Given the description of an element on the screen output the (x, y) to click on. 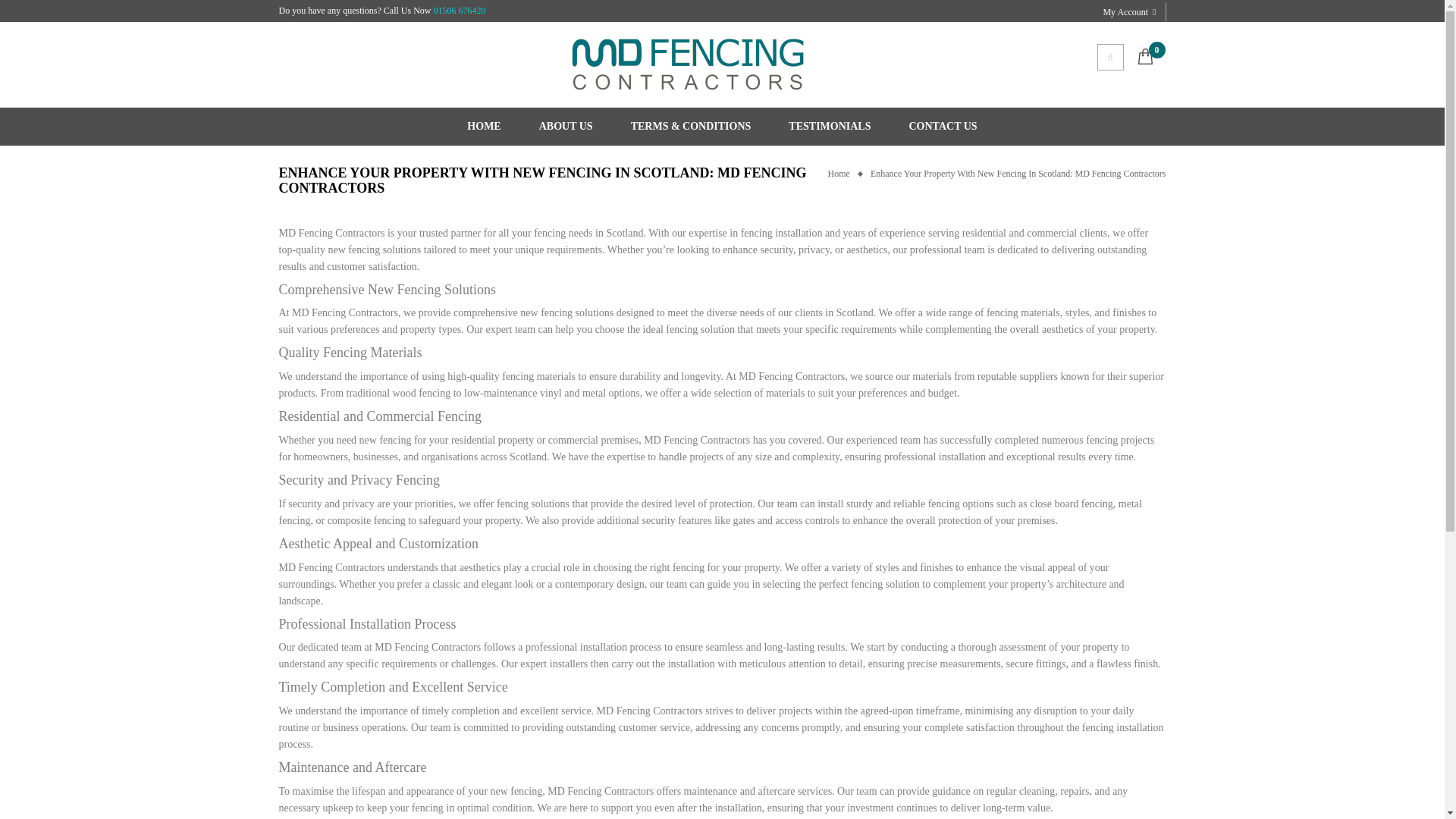
HOME (483, 126)
0 (1156, 49)
Home (842, 173)
CONTACT US (942, 126)
01506 676420 (458, 9)
View your shopping cart (1156, 49)
TESTIMONIALS (829, 126)
ABOUT US (565, 126)
Click to call (458, 9)
